Given the description of an element on the screen output the (x, y) to click on. 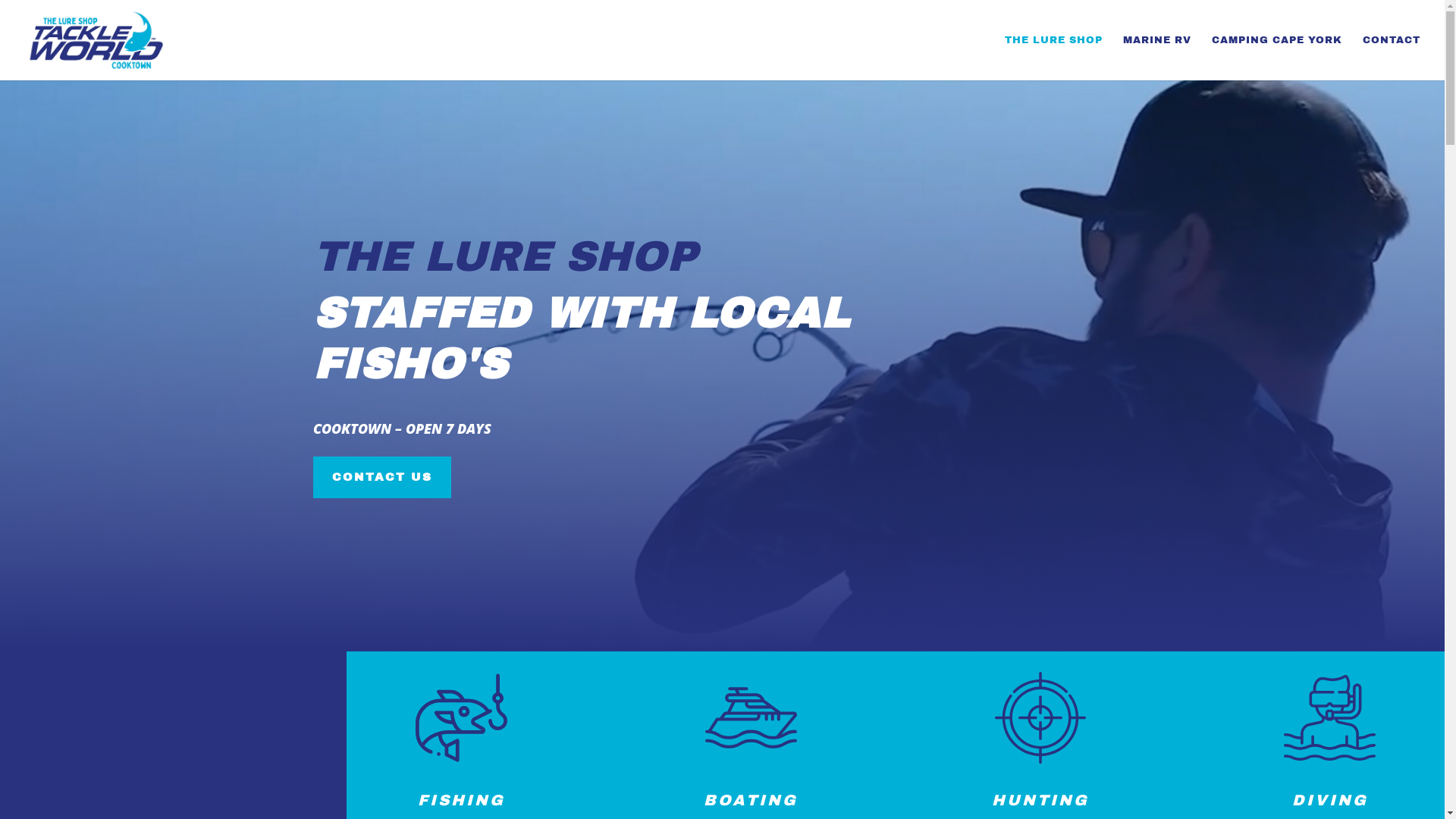
THE LURE SHOP Element type: text (1053, 57)
CONTACT Element type: text (1391, 57)
CAMPING CAPE YORK Element type: text (1276, 57)
CONTACT US Element type: text (381, 477)
MARINE RV Element type: text (1157, 57)
